Given the description of an element on the screen output the (x, y) to click on. 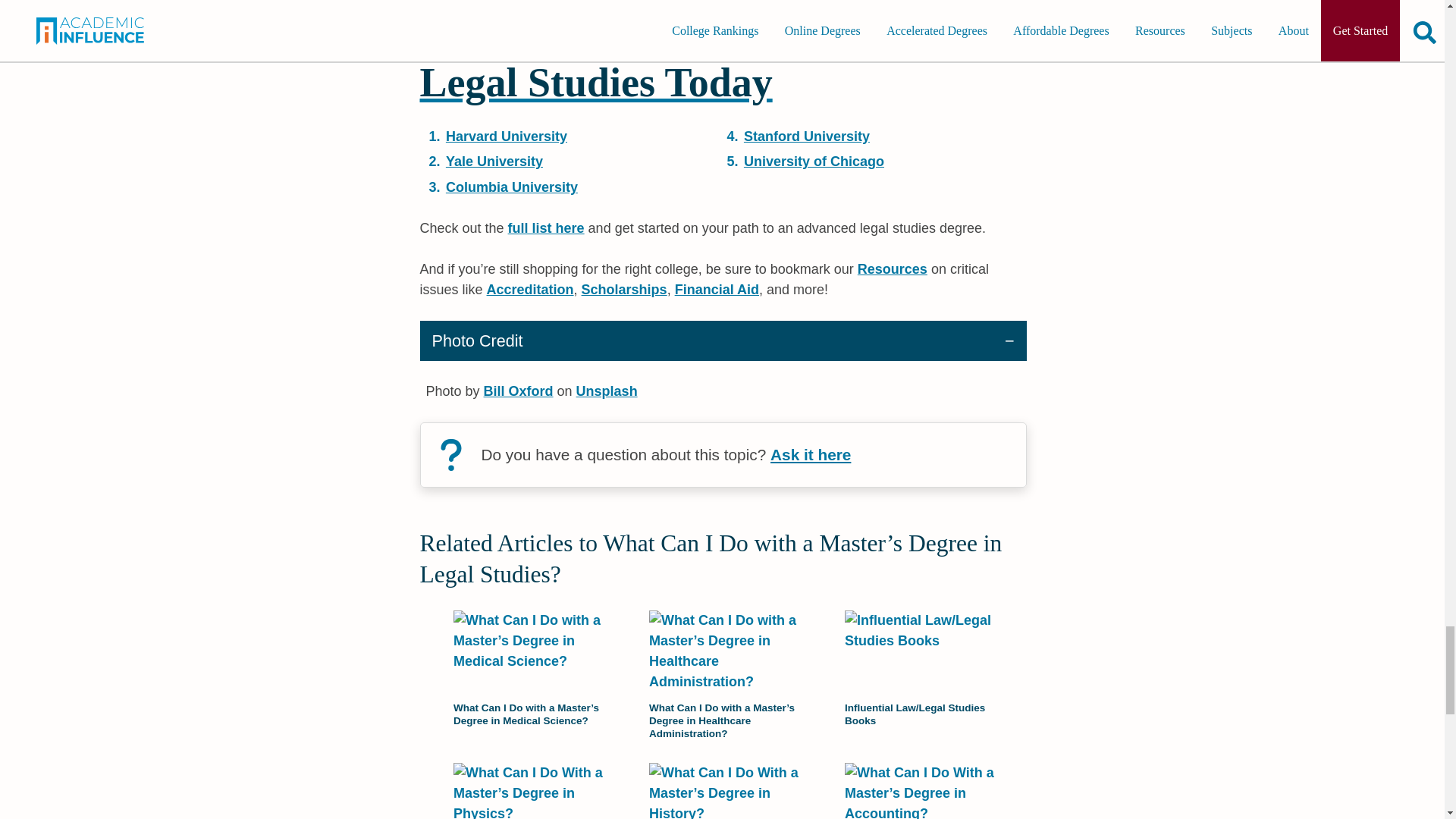
full list here (546, 227)
